Given the description of an element on the screen output the (x, y) to click on. 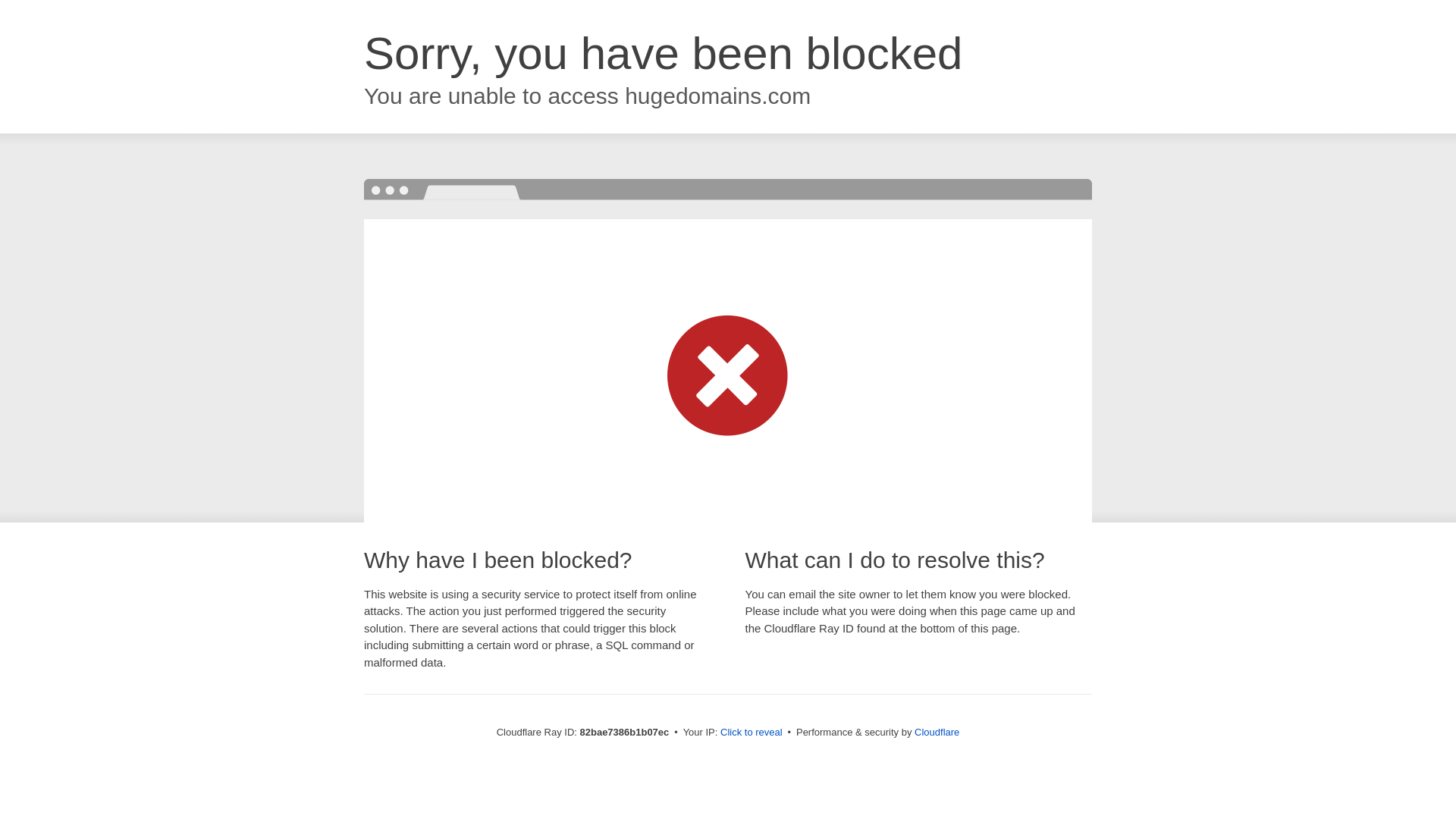
Click to reveal Element type: text (751, 732)
Cloudflare Element type: text (936, 731)
